Given the description of an element on the screen output the (x, y) to click on. 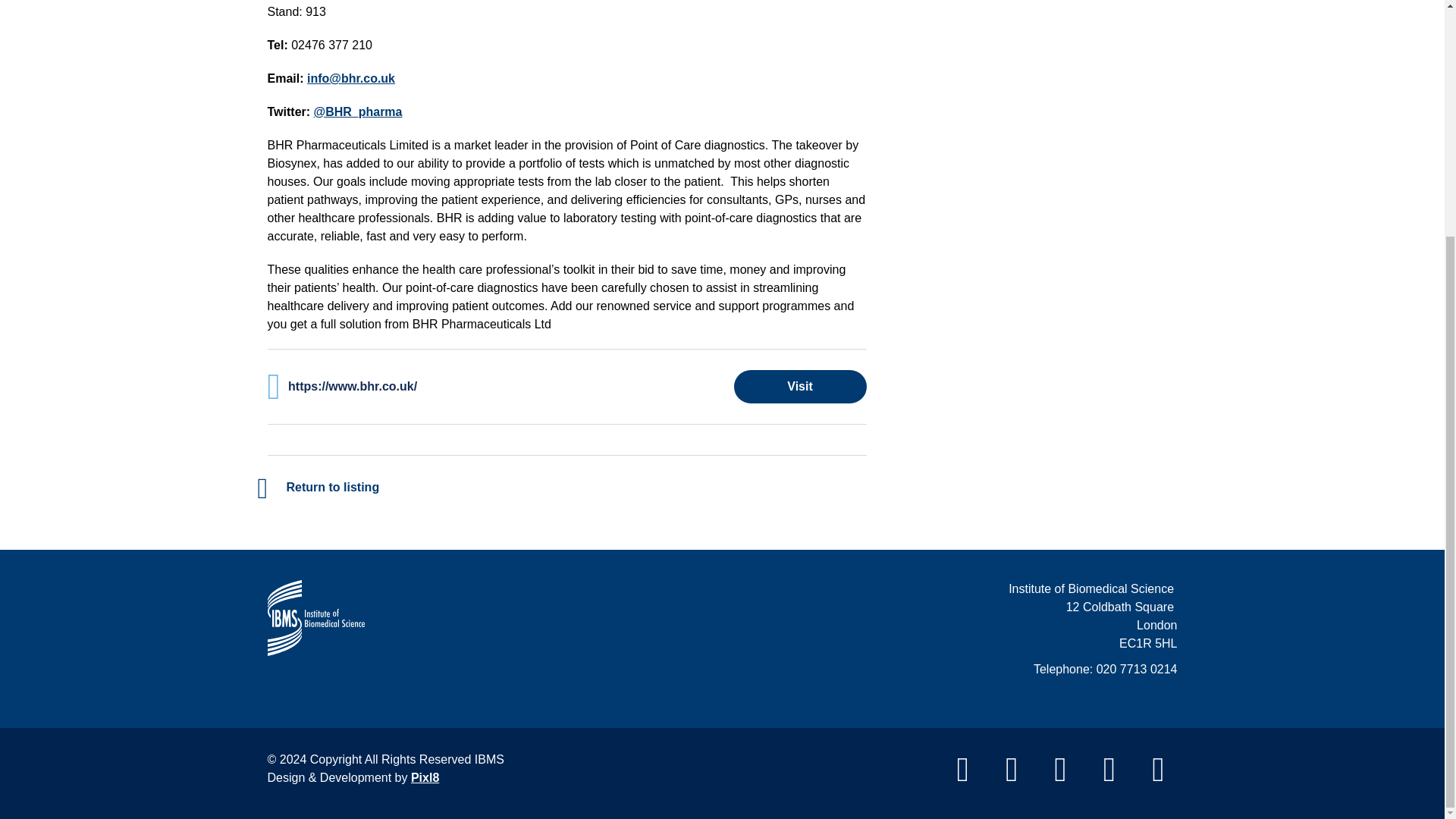
Pixl8 (424, 777)
Visit (799, 386)
Return to listing (322, 486)
